Given the description of an element on the screen output the (x, y) to click on. 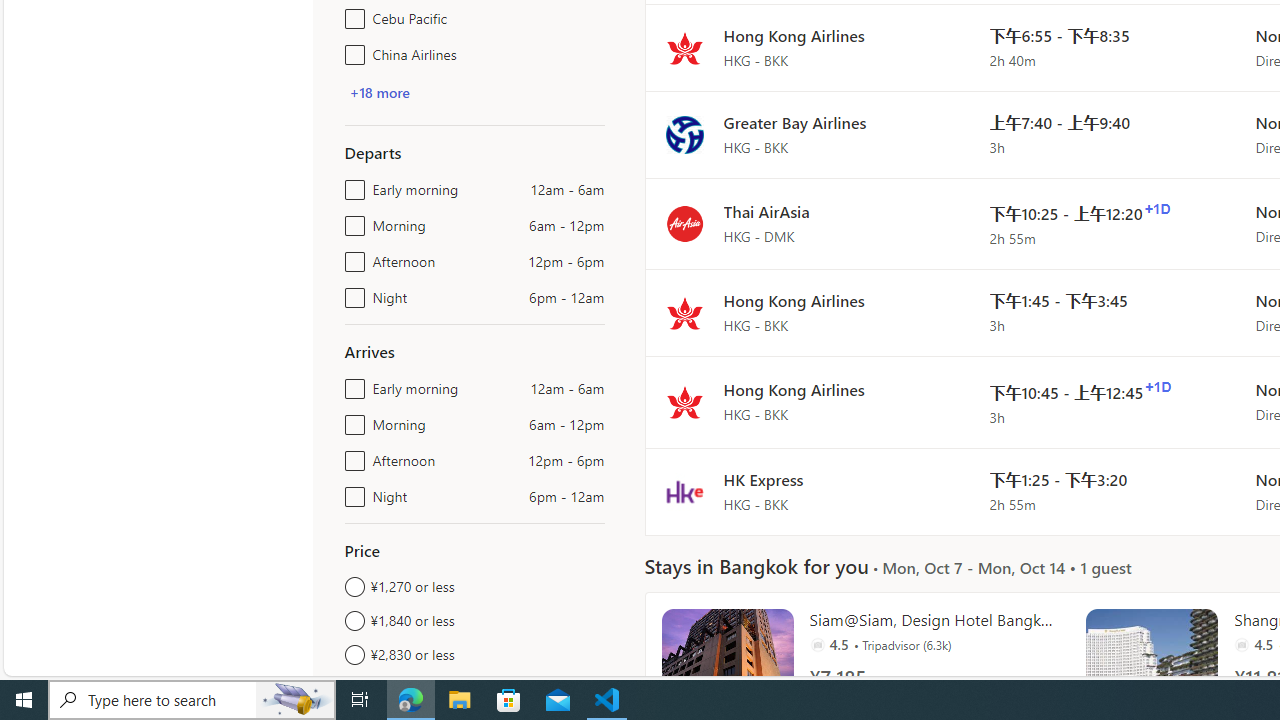
Any price (474, 688)
Tripadvisor (1241, 644)
China Airlines (351, 50)
Morning6am - 12pm (351, 420)
Early morning12am - 6am (351, 384)
+18 more (379, 92)
Flight logo (684, 491)
Afternoon12pm - 6pm (351, 456)
Cebu Pacific (351, 14)
Night6pm - 12am (351, 492)
